Given the description of an element on the screen output the (x, y) to click on. 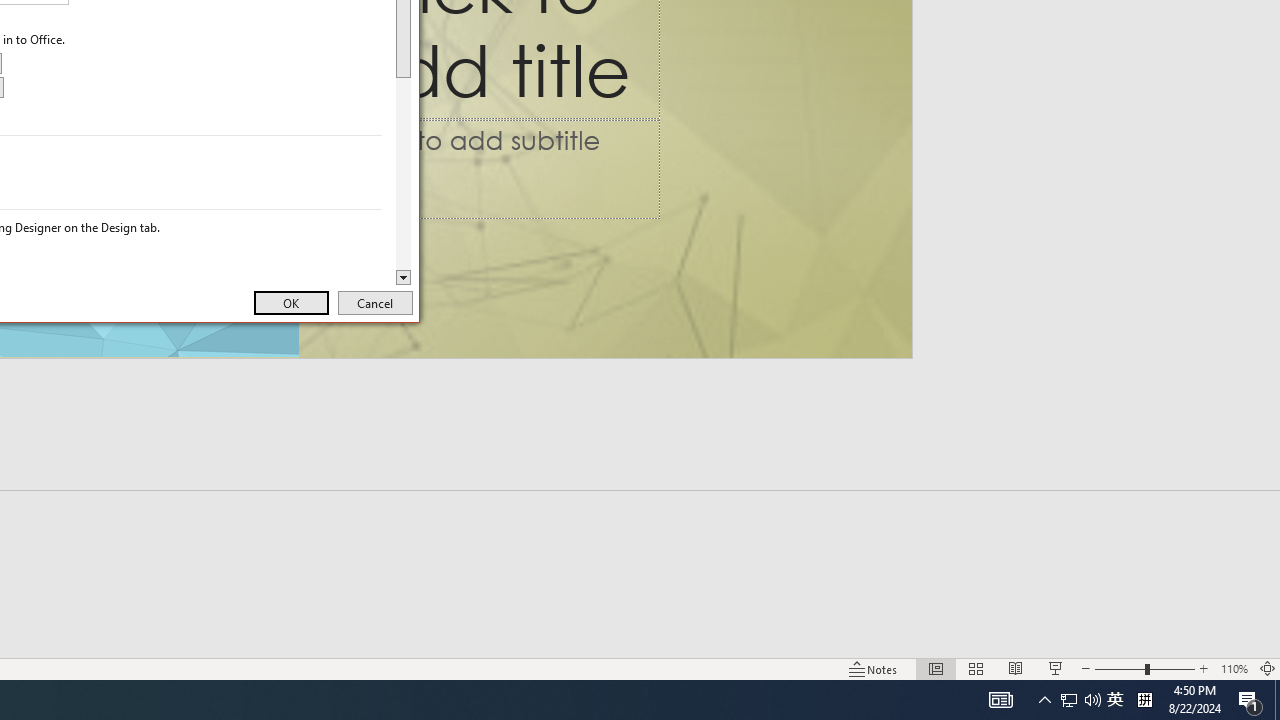
Show desktop (1277, 699)
Notification Chevron (1044, 699)
Line down (1115, 699)
